Given the description of an element on the screen output the (x, y) to click on. 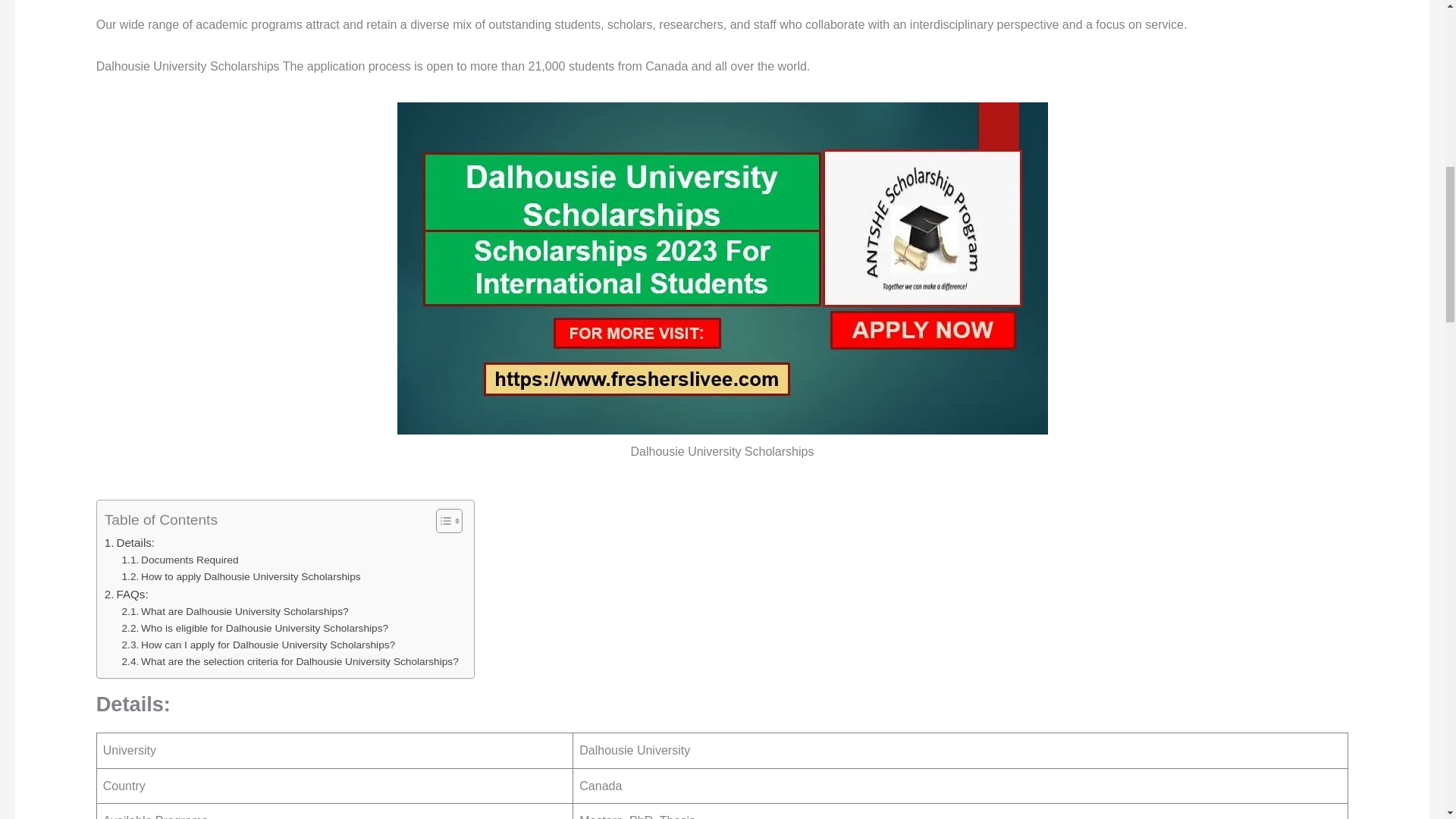
FAQs: (126, 594)
FAQs: (126, 594)
What are Dalhousie University Scholarships? (235, 611)
How to apply Dalhousie University Scholarships (241, 576)
How to apply Dalhousie University Scholarships (241, 576)
Documents Required (180, 560)
How can I apply for Dalhousie University Scholarships? (259, 645)
What are Dalhousie University Scholarships? (235, 611)
How can I apply for Dalhousie University Scholarships? (259, 645)
Who is eligible for Dalhousie University Scholarships? (255, 628)
Who is eligible for Dalhousie University Scholarships? (255, 628)
Documents Required (180, 560)
